Given the description of an element on the screen output the (x, y) to click on. 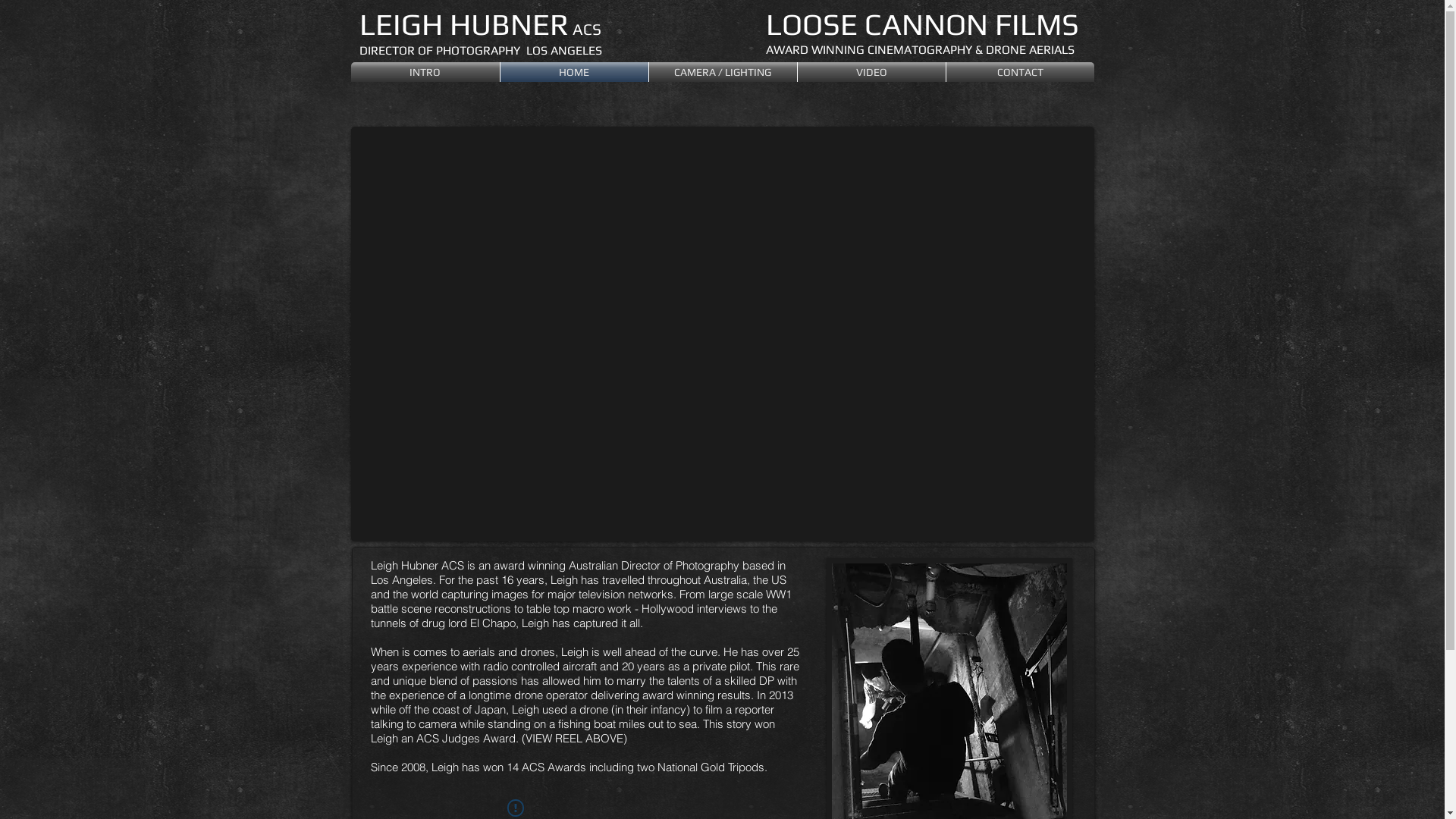
CAMERA / LIGHTING Element type: text (723, 71)
VIDEO Element type: text (871, 71)
CONTACT Element type: text (1020, 71)
INTRO Element type: text (424, 71)
HOME Element type: text (574, 71)
External Vimeo Element type: hover (722, 333)
